Given the description of an element on the screen output the (x, y) to click on. 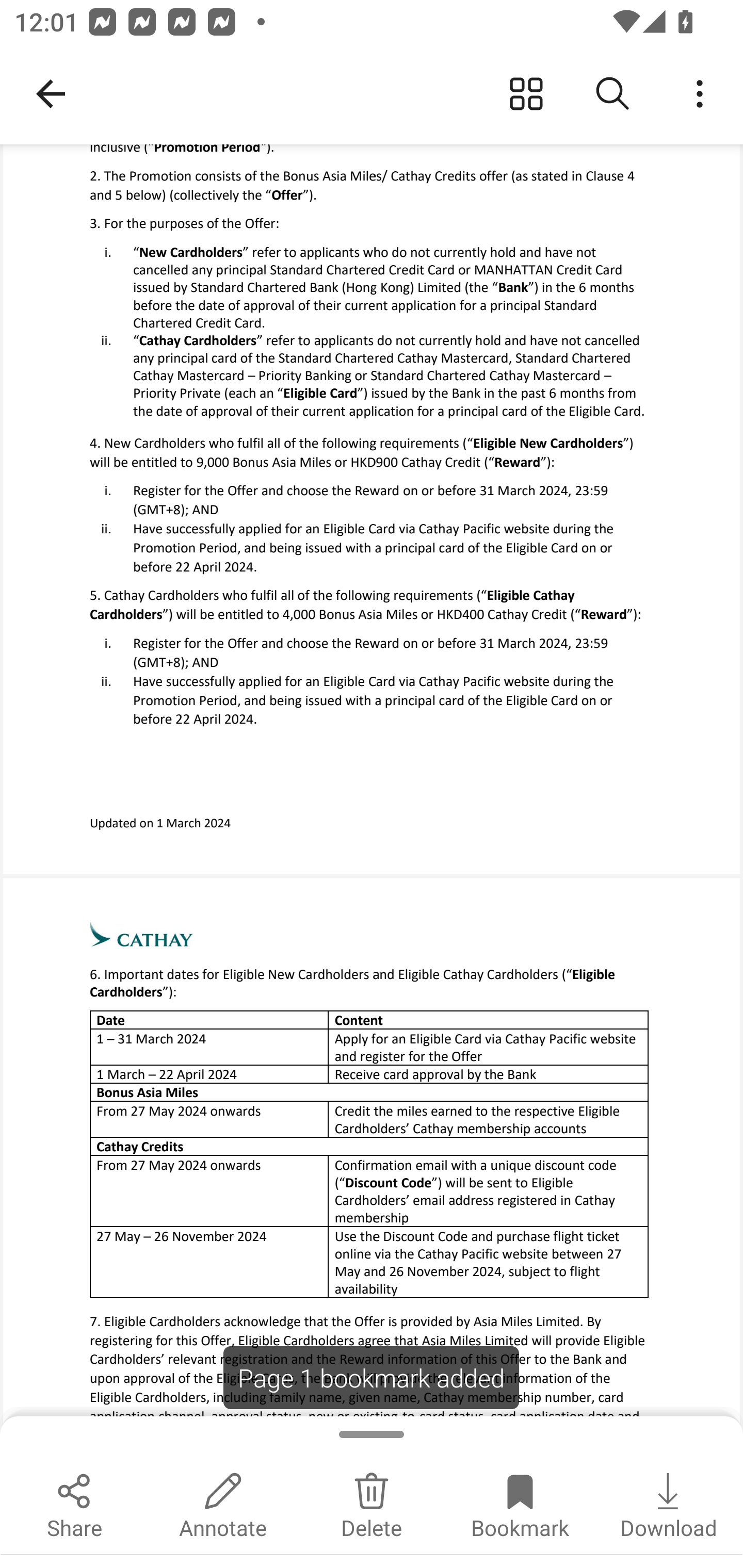
Navigate up (50, 93)
button (525, 93)
button (612, 93)
button (699, 93)
Share (74, 1502)
Annotate (222, 1502)
Delete (371, 1502)
Bookmark, selected Bookmark (519, 1502)
Download (668, 1502)
